Given the description of an element on the screen output the (x, y) to click on. 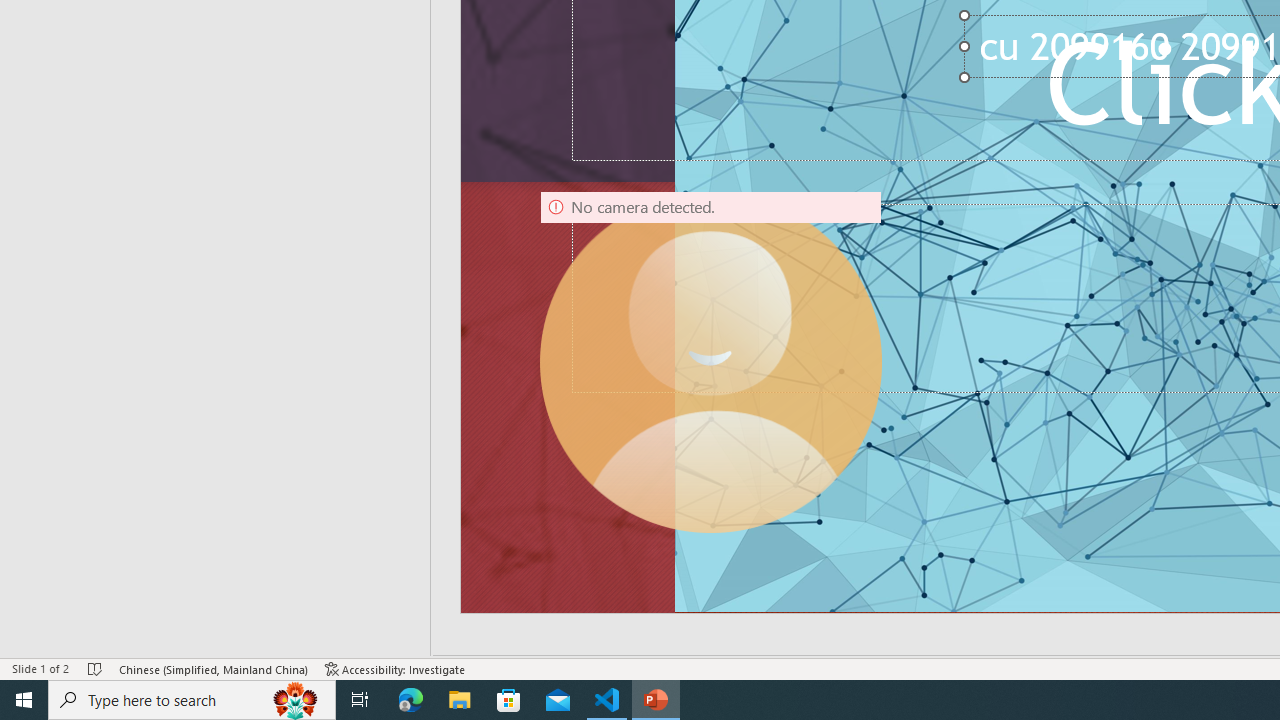
Camera 9, No camera detected. (710, 362)
